Given the description of an element on the screen output the (x, y) to click on. 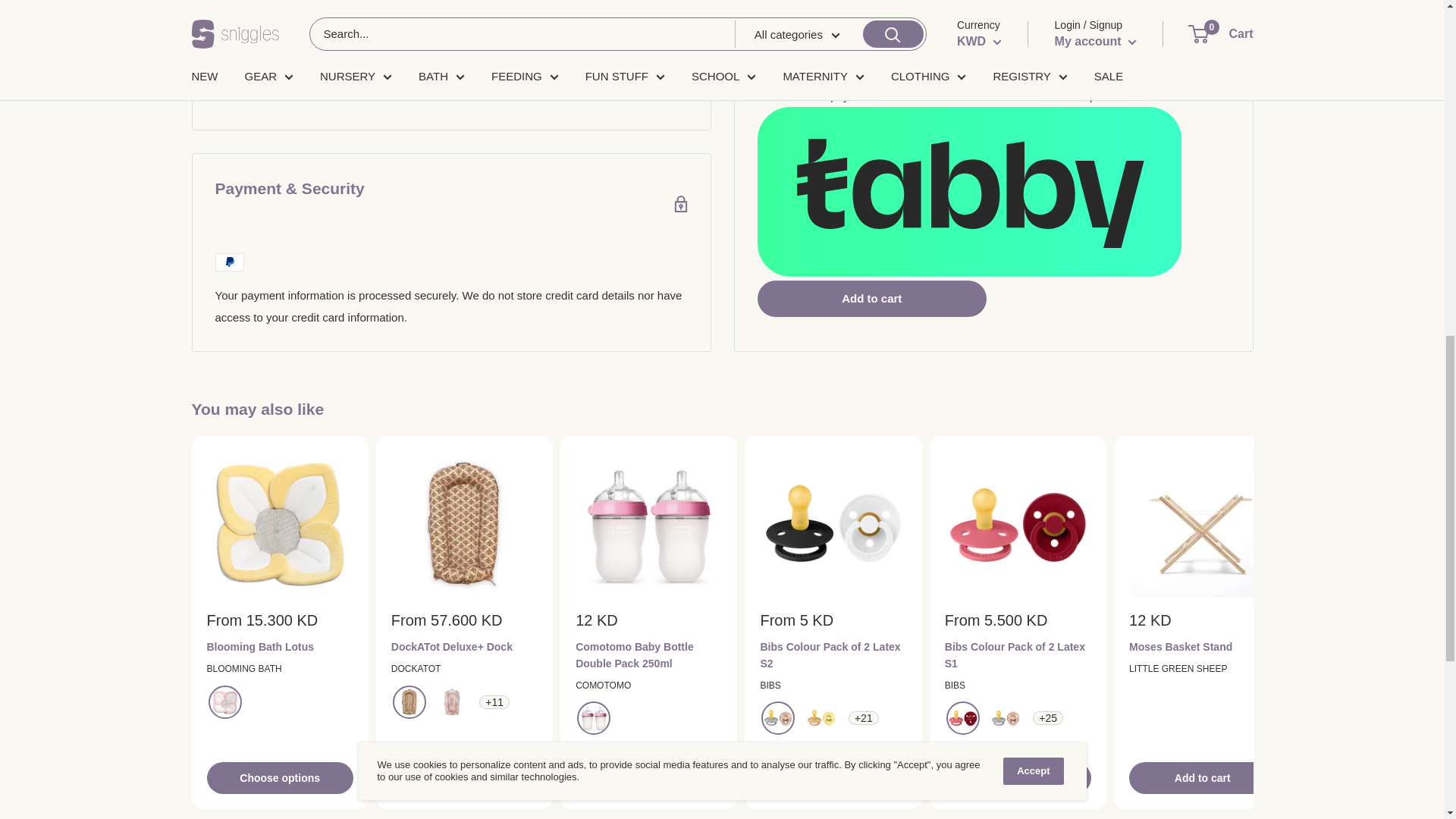
Busy Bees (409, 702)
Pink (593, 717)
Ginger Shibori (451, 702)
